Given the description of an element on the screen output the (x, y) to click on. 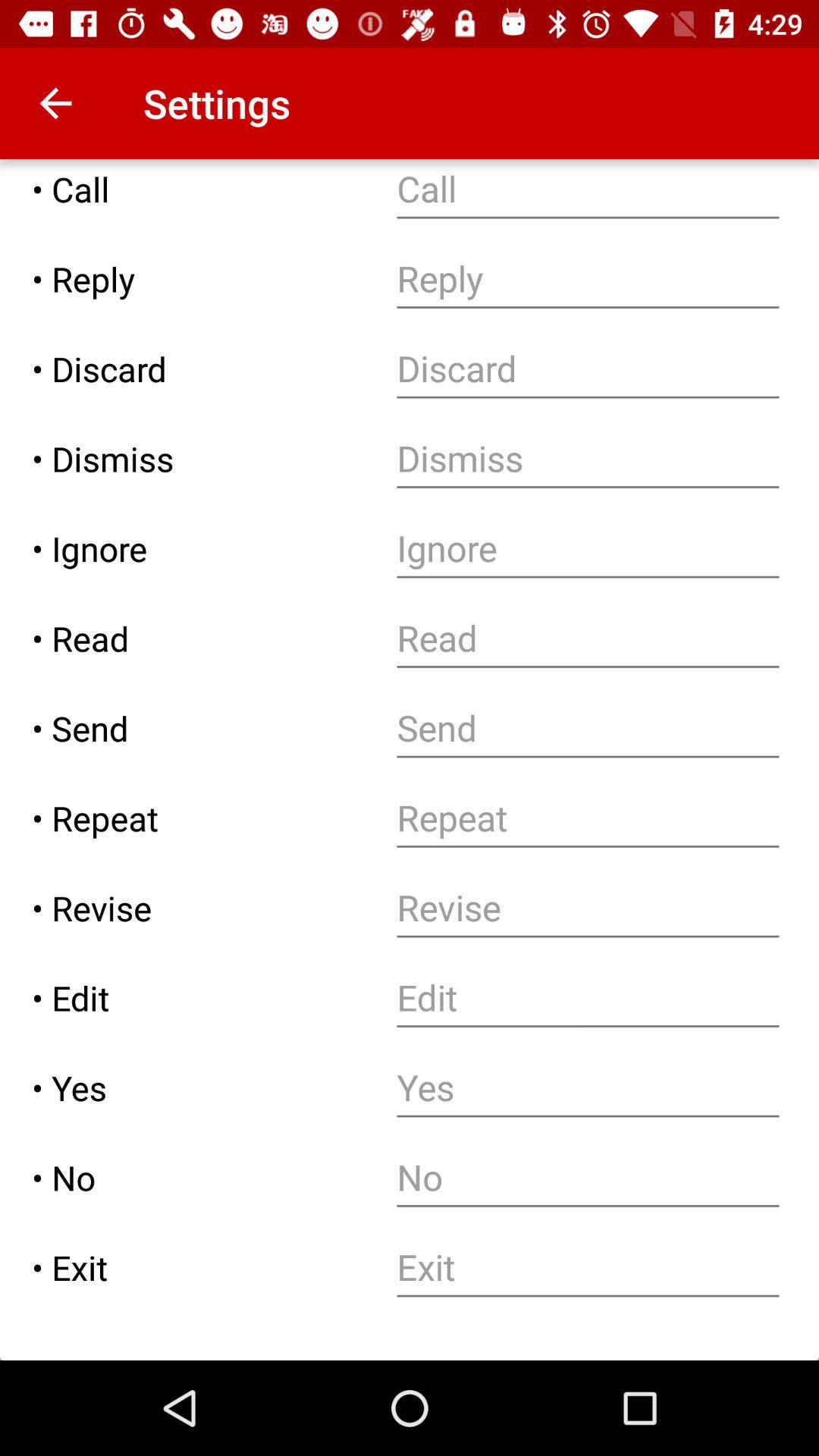
send text (588, 728)
